Given the description of an element on the screen output the (x, y) to click on. 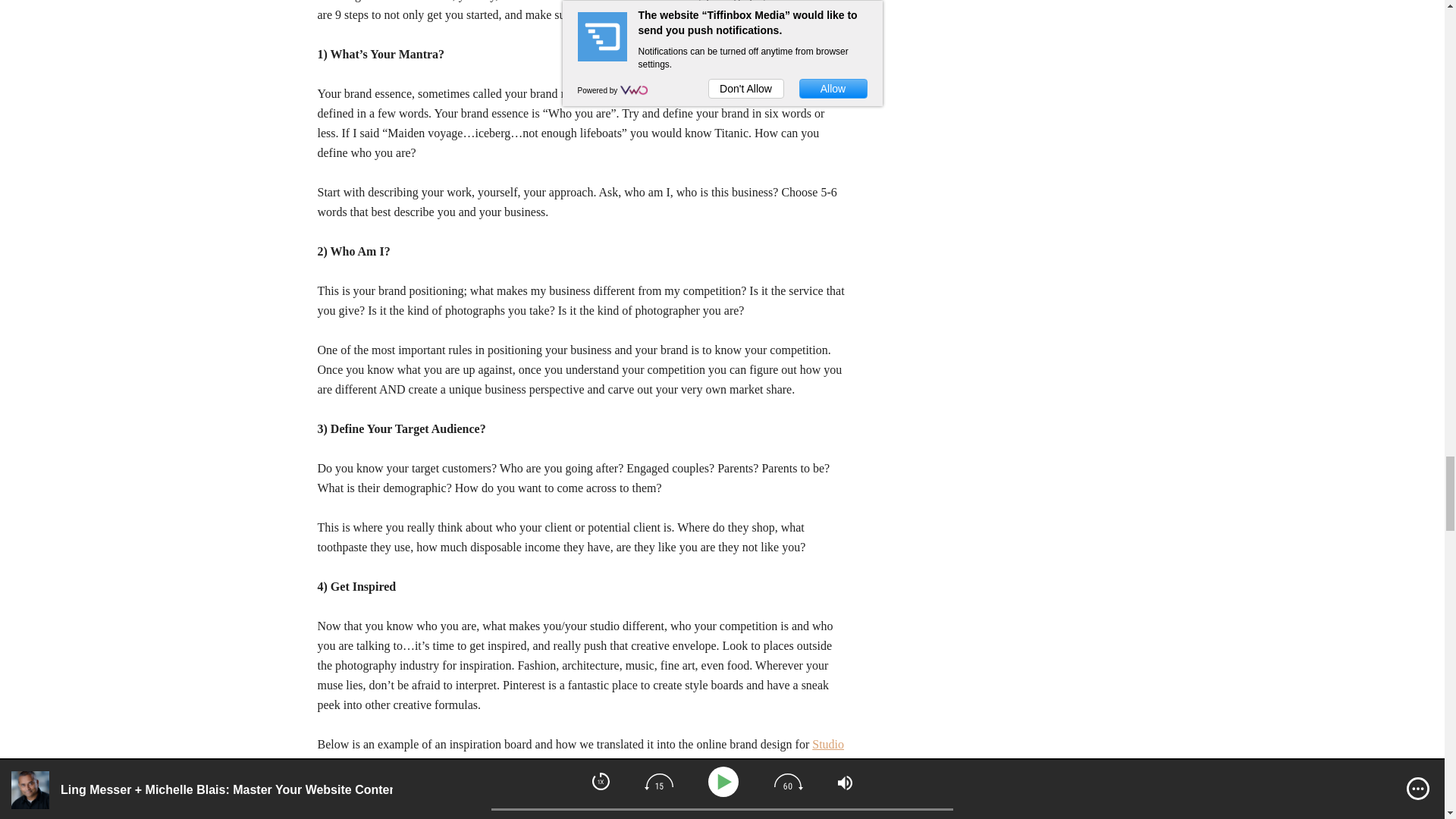
Studio Diana - Fashion (582, 806)
